Given the description of an element on the screen output the (x, y) to click on. 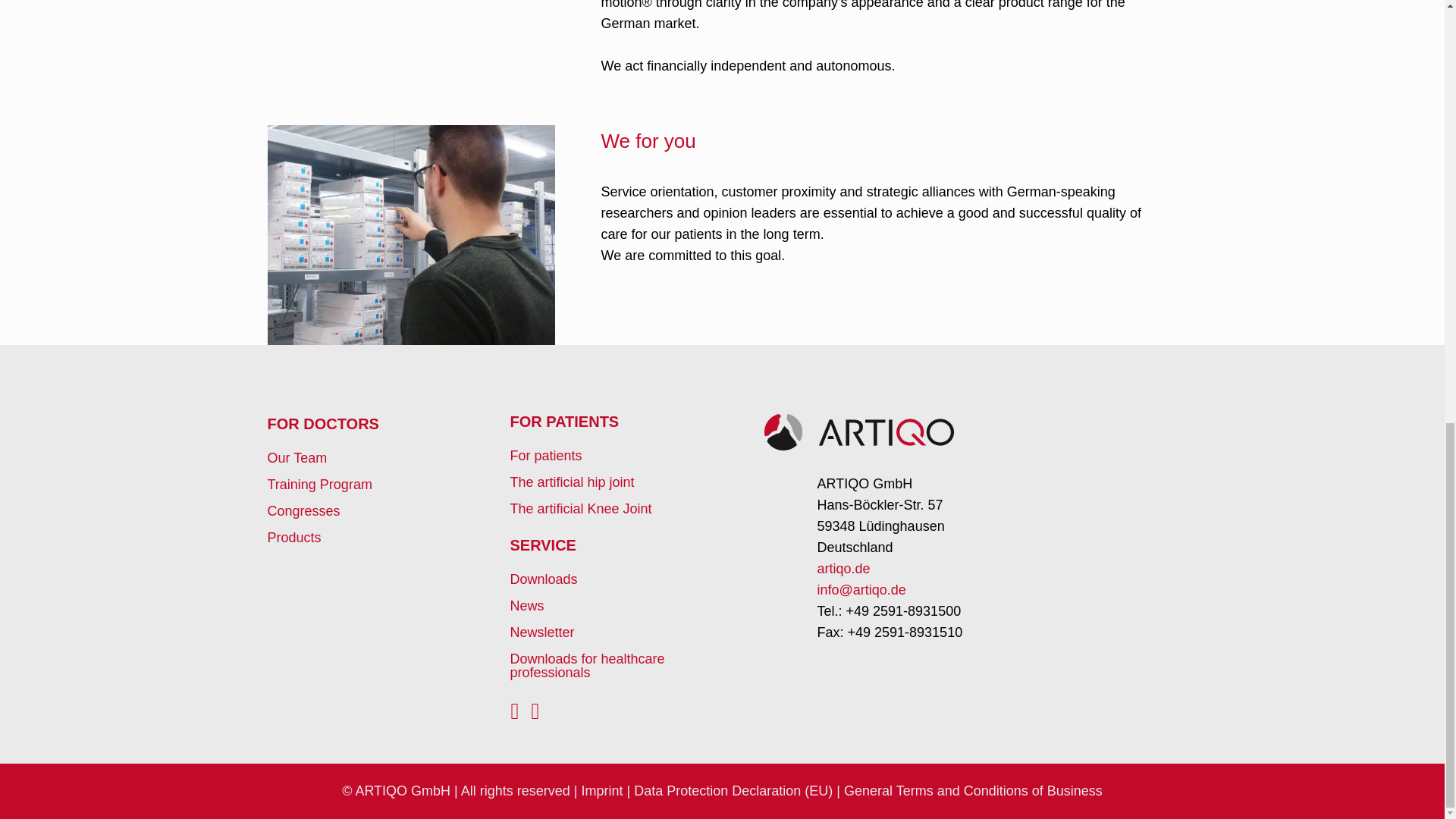
employee (410, 234)
